Given the description of an element on the screen output the (x, y) to click on. 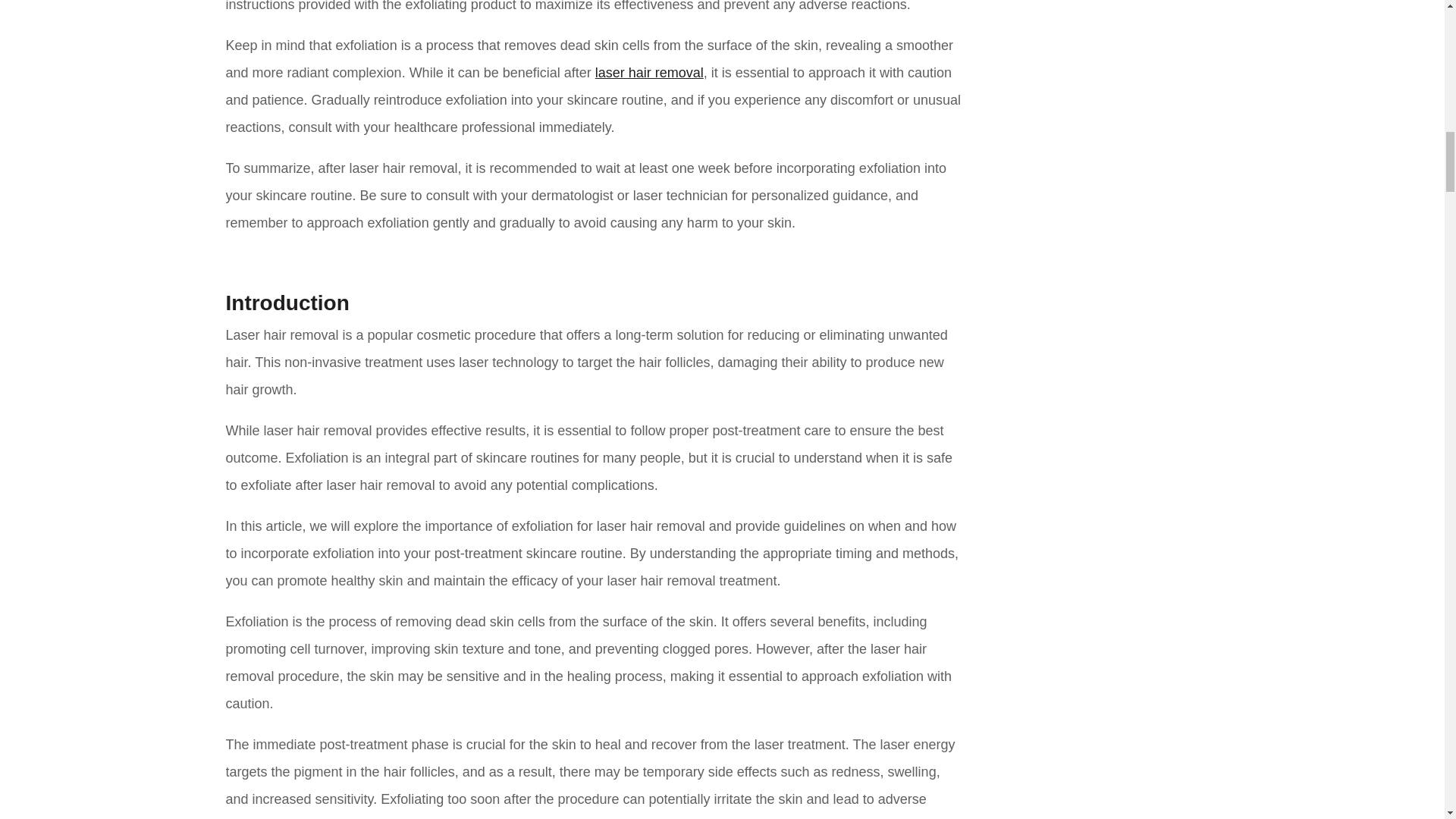
laser hair removal (649, 72)
